Given the description of an element on the screen output the (x, y) to click on. 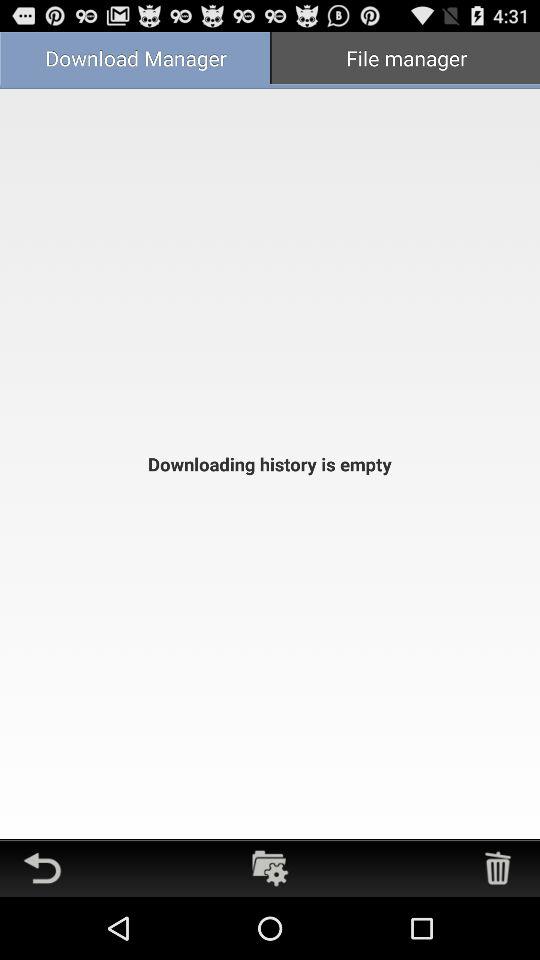
exclude files (498, 868)
